Given the description of an element on the screen output the (x, y) to click on. 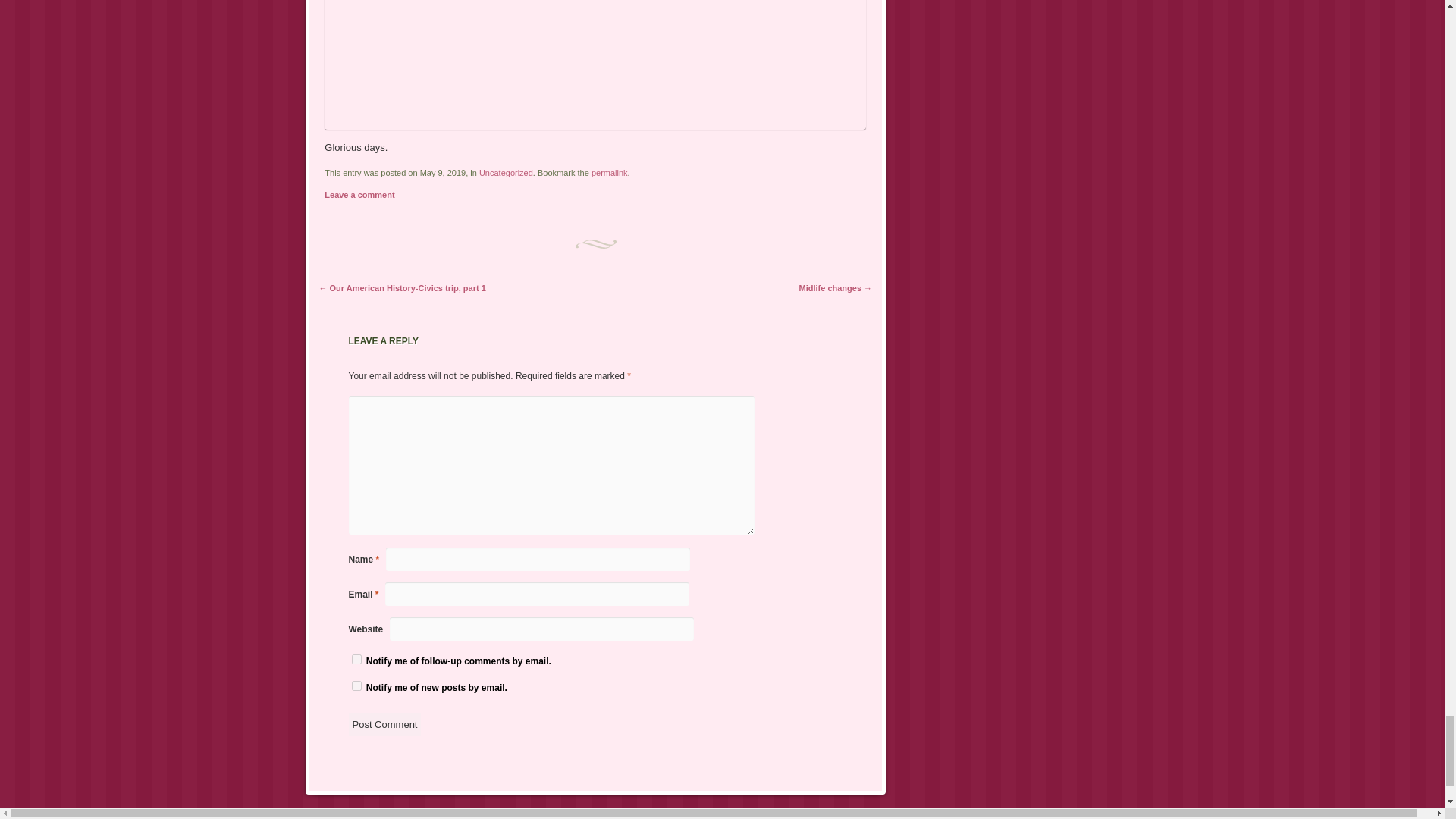
Uncategorized (505, 172)
Leave a comment (359, 194)
subscribe (356, 685)
subscribe (356, 659)
permalink (609, 172)
Post Comment (385, 724)
Post Comment (385, 724)
